Given the description of an element on the screen output the (x, y) to click on. 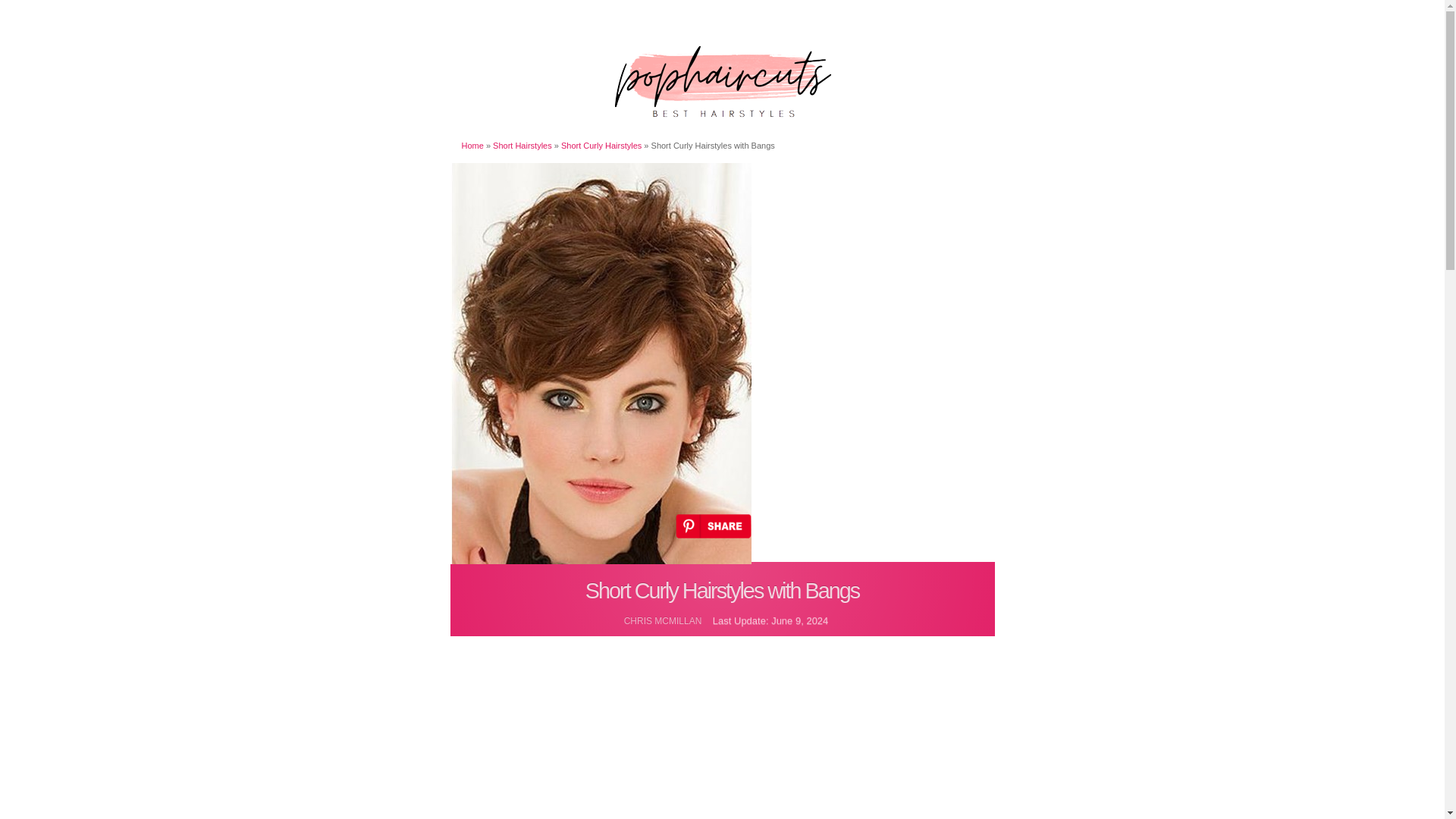
Short Hairstyles (522, 144)
Advertisement (721, 744)
Home (472, 144)
CHRIS MCMILLAN (662, 620)
Posts by CHRIS MCMILLAN (662, 620)
Short Curly Hairstyles (601, 144)
